Given the description of an element on the screen output the (x, y) to click on. 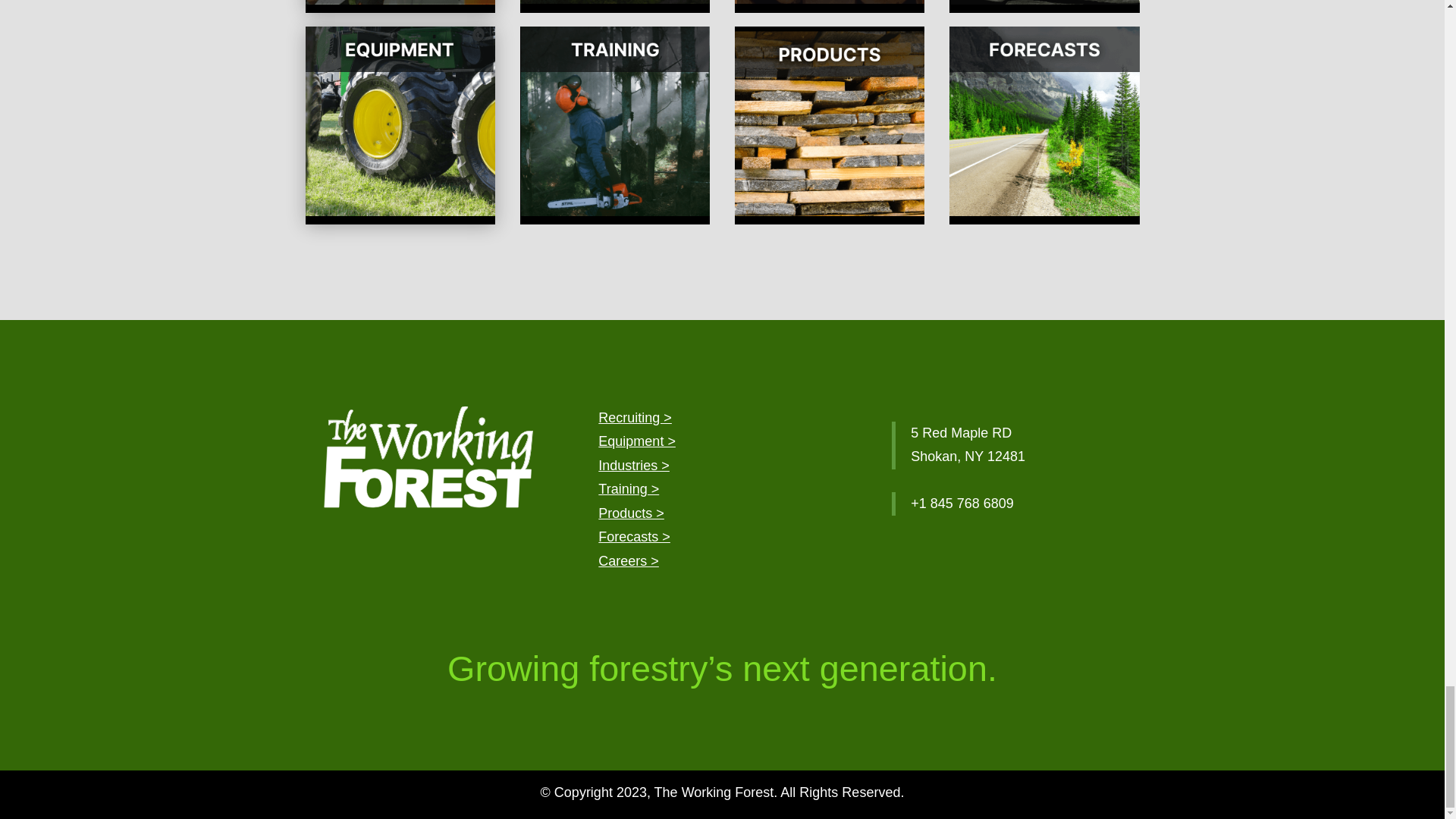
Equipment Information (636, 441)
Recruiting Information (634, 417)
Career Information (628, 560)
Forcasts (633, 536)
Industries (633, 465)
Products (630, 513)
Training Information (628, 488)
